Given the description of an element on the screen output the (x, y) to click on. 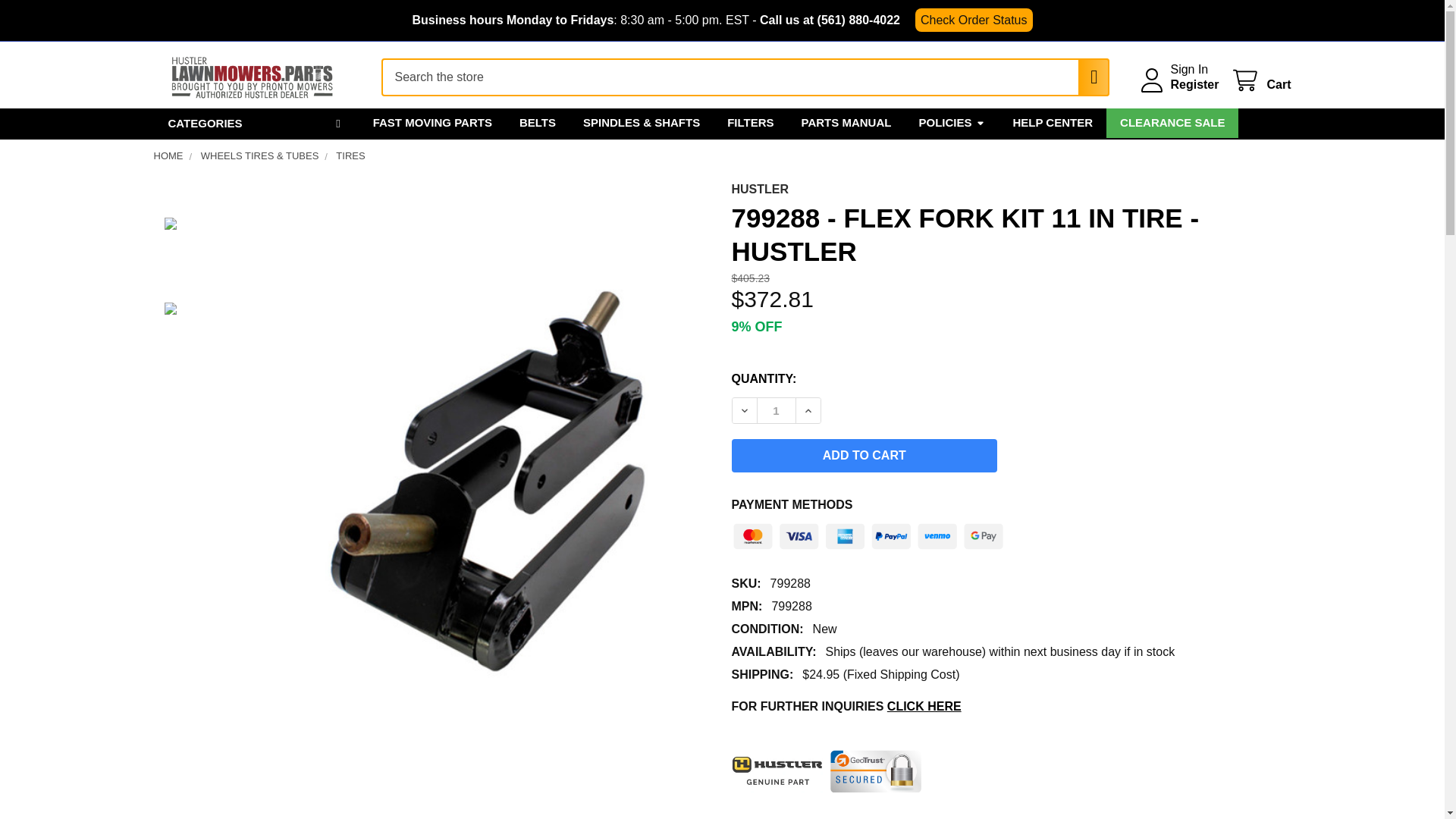
GeoTrust Secured (874, 771)
Payment Methods (867, 533)
Search (1085, 77)
799288 - KIT FLEX FORK 11" TIRE - Image 1 (200, 254)
Sign In (1189, 69)
Hustler Lawn Mowers.parts (251, 77)
Cart (1260, 80)
HUSTLER Original part (776, 770)
Register (1194, 84)
